Given the description of an element on the screen output the (x, y) to click on. 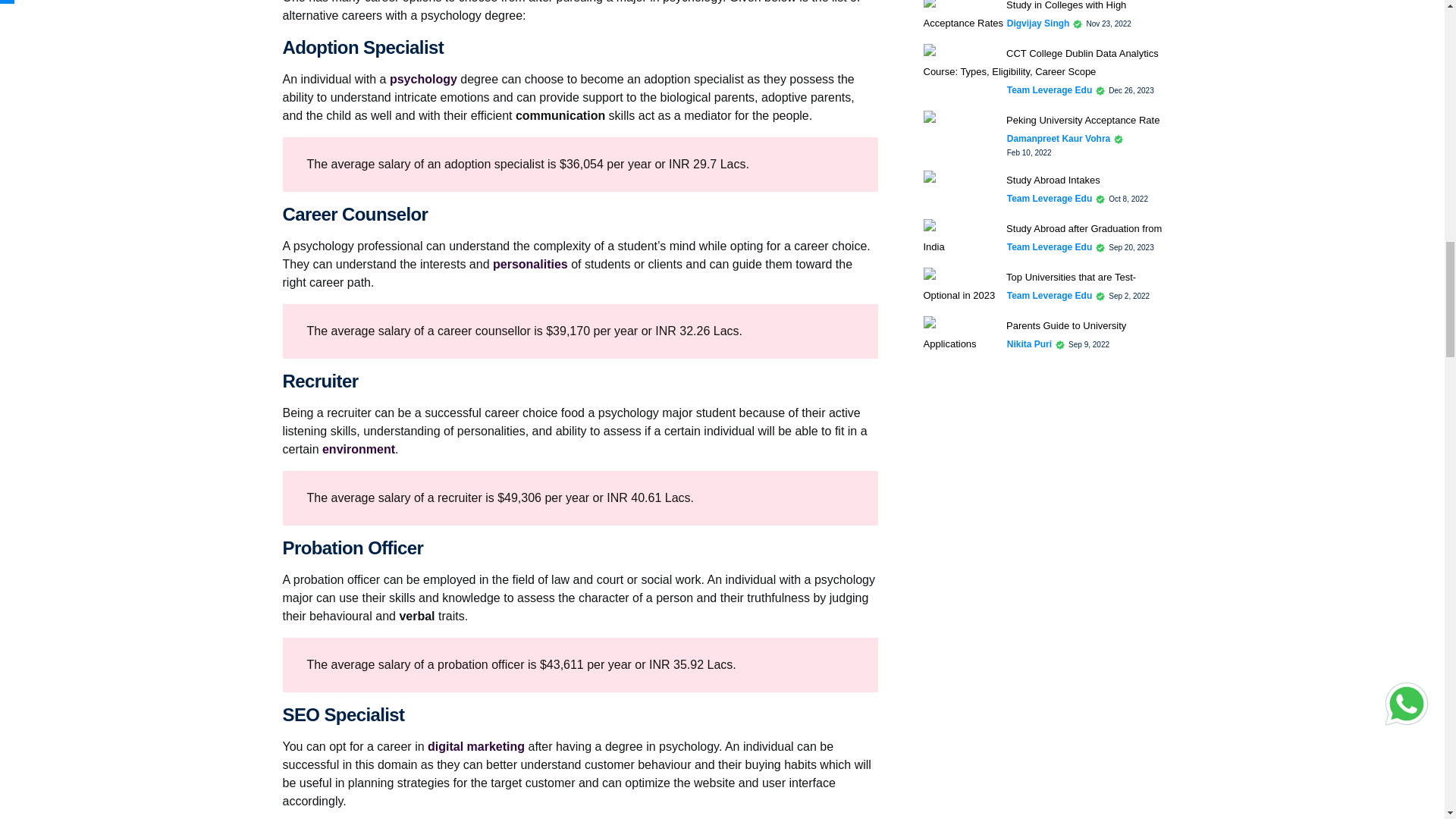
View all posts by Team Leverage Edu (1050, 90)
View all posts by Team Leverage Edu (1050, 246)
View all posts by Digvijay Singh (1038, 23)
View all posts by Damanpreet Kaur Vohra (1058, 138)
View all posts by Team Leverage Edu (1050, 295)
View all posts by Team Leverage Edu (1050, 198)
